Given the description of an element on the screen output the (x, y) to click on. 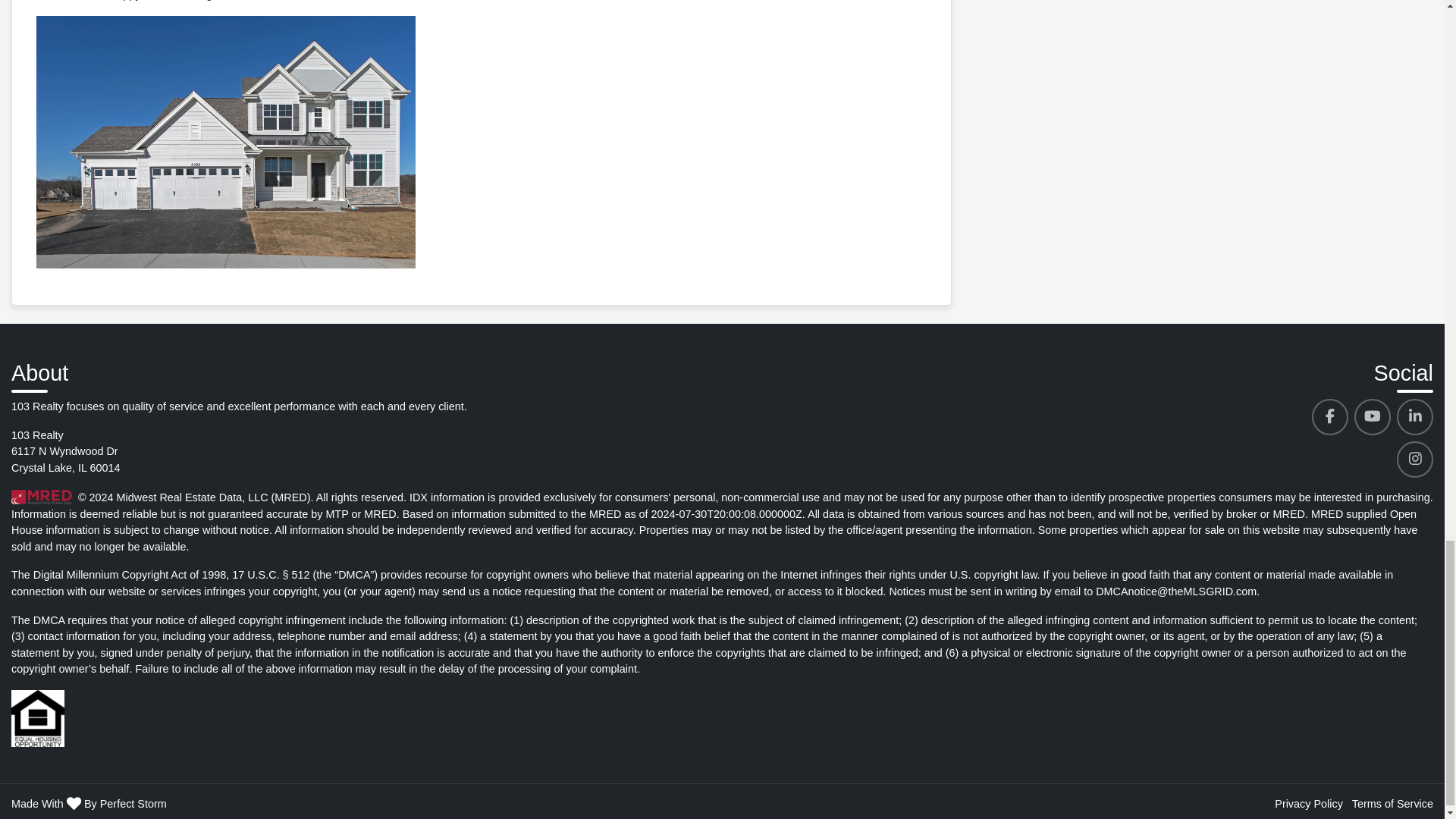
Made With By Perfect Storm (89, 803)
Privacy Policy (1308, 803)
Terms of Service (1392, 803)
